Given the description of an element on the screen output the (x, y) to click on. 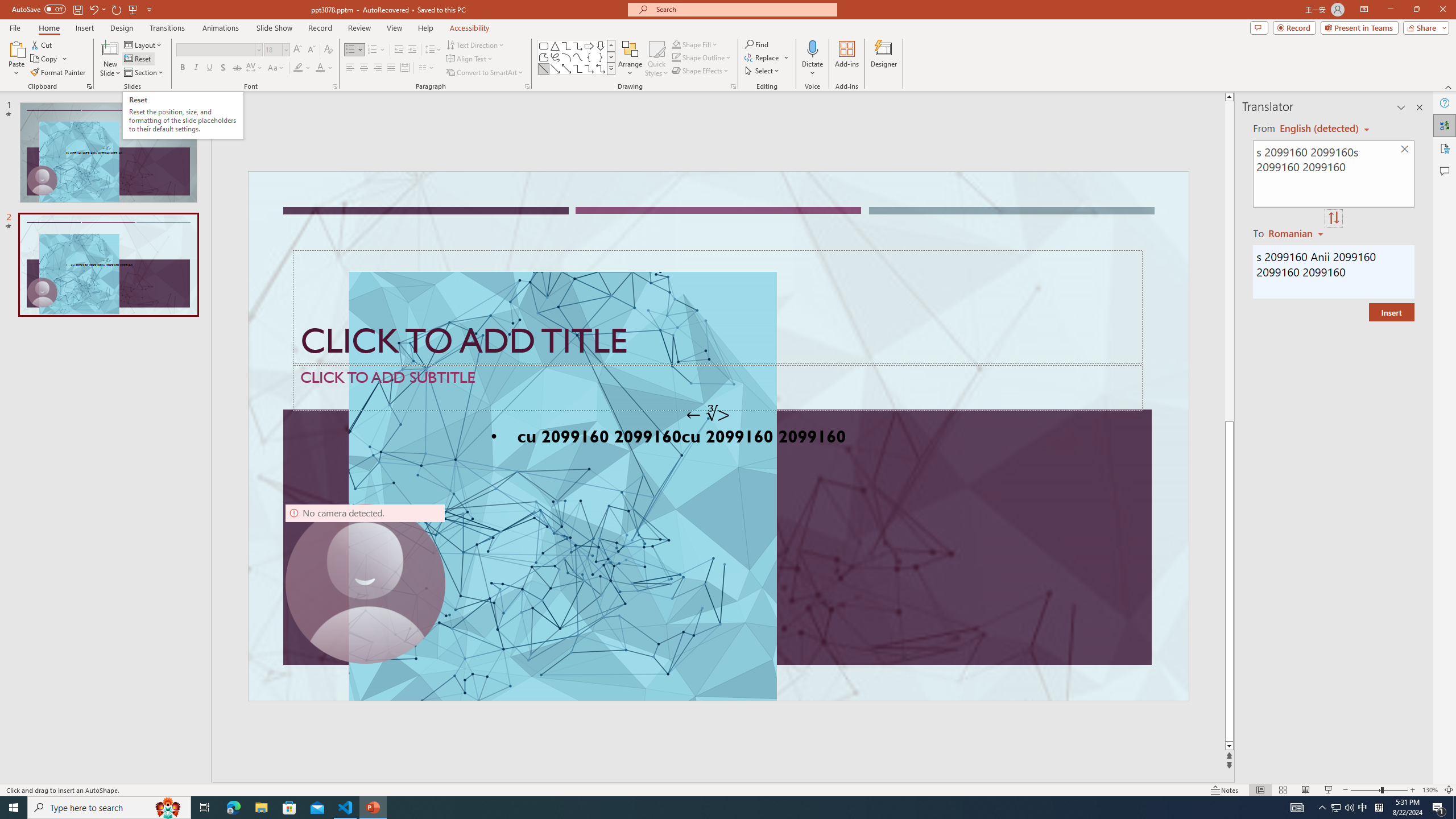
Connector: Elbow Arrow (589, 68)
Czech (detected) (1319, 128)
Class: MsoCommandBar (728, 789)
Designer (883, 58)
Swap "from" and "to" languages. (1333, 218)
Title TextBox (717, 308)
Text Highlight Color Yellow (297, 67)
Font (215, 49)
Office Clipboard... (88, 85)
Replace... (767, 56)
